Given the description of an element on the screen output the (x, y) to click on. 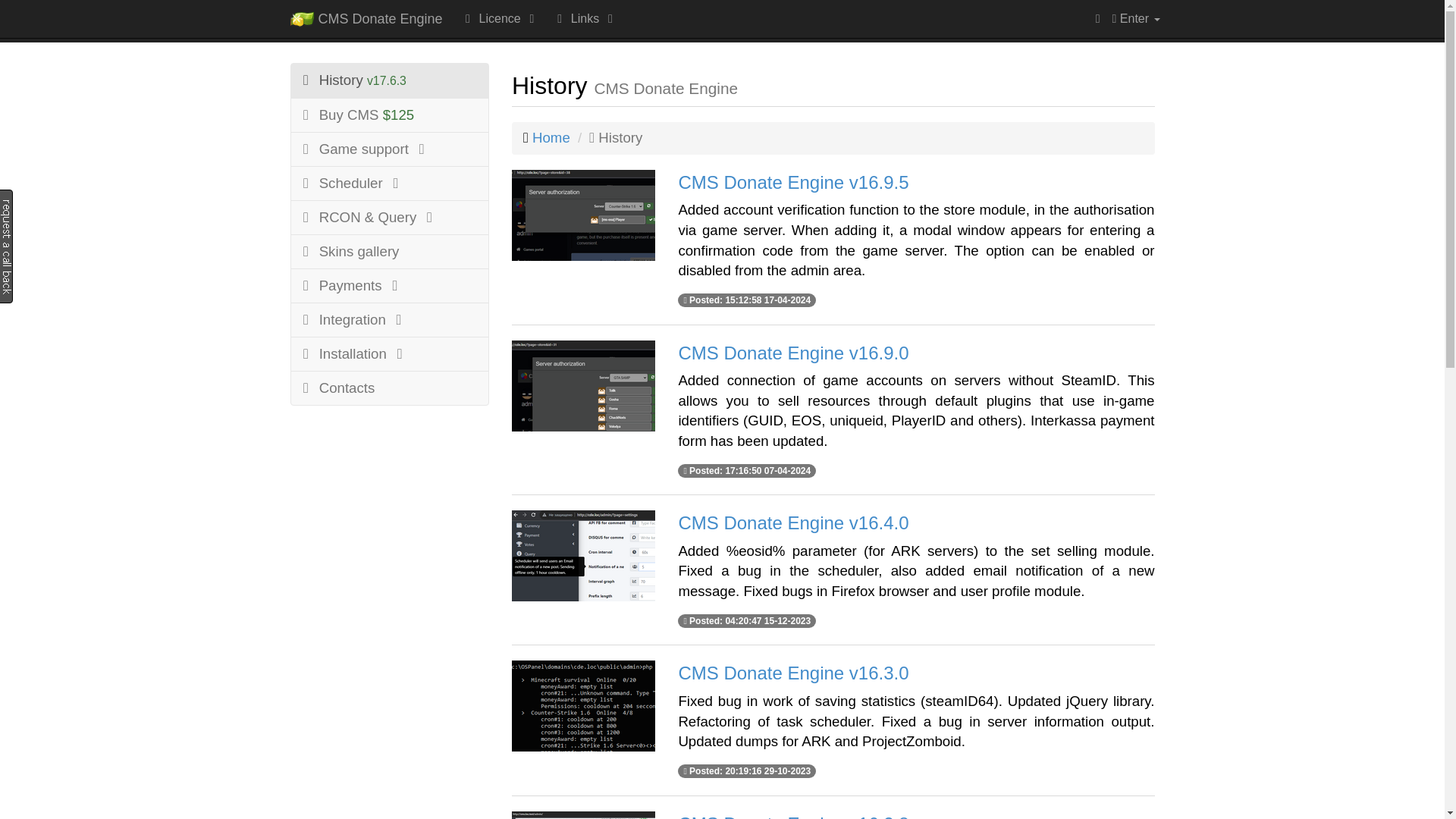
 CMS Donate Engine (366, 18)
Links (585, 18)
History v17.6.3 (390, 80)
Licence (500, 18)
Scheduler (390, 183)
Game support (390, 149)
Enter (1136, 18)
